Given the description of an element on the screen output the (x, y) to click on. 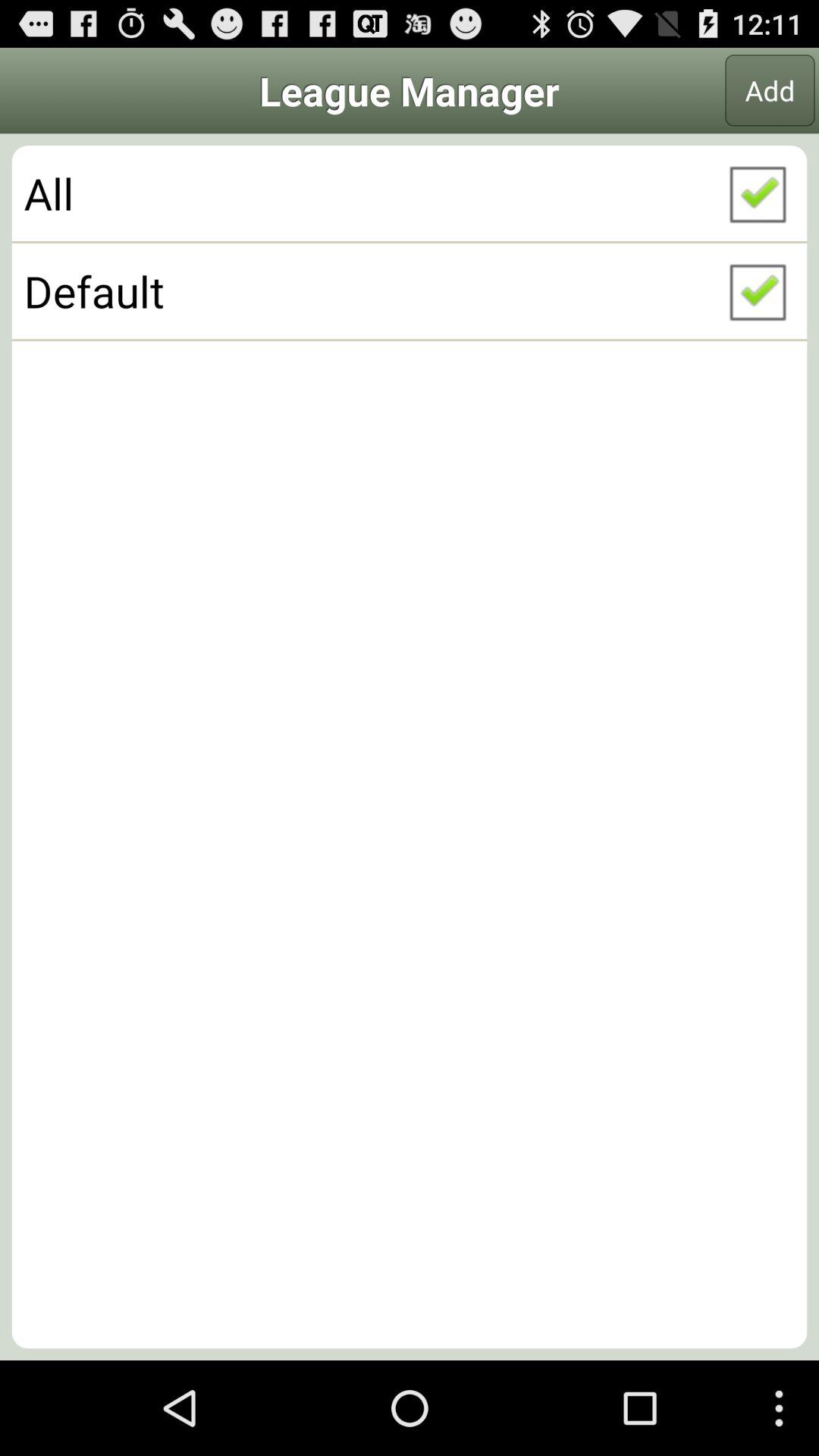
launch the app next to league manager (770, 90)
